Given the description of an element on the screen output the (x, y) to click on. 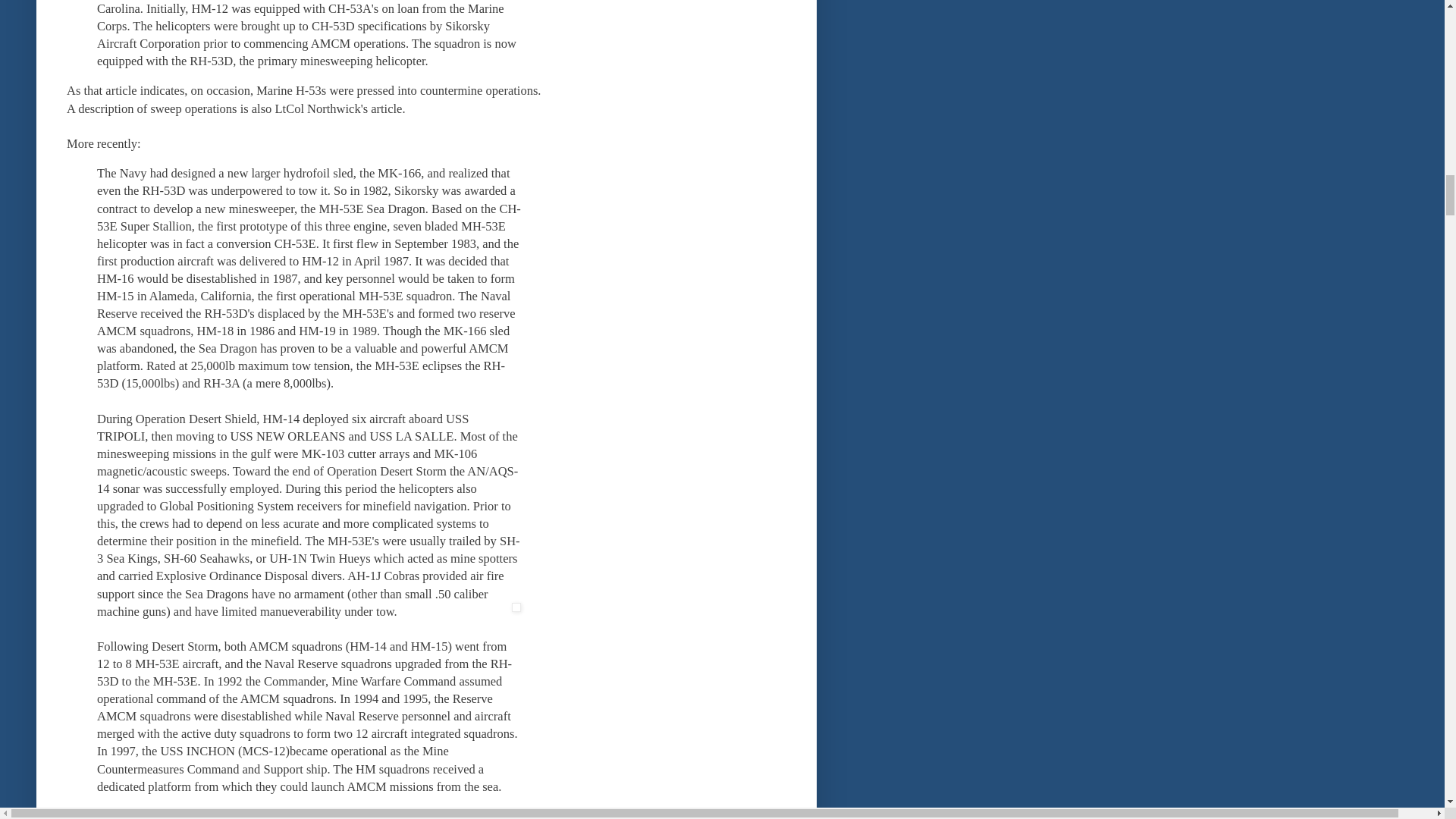
resources (344, 816)
